Given the description of an element on the screen output the (x, y) to click on. 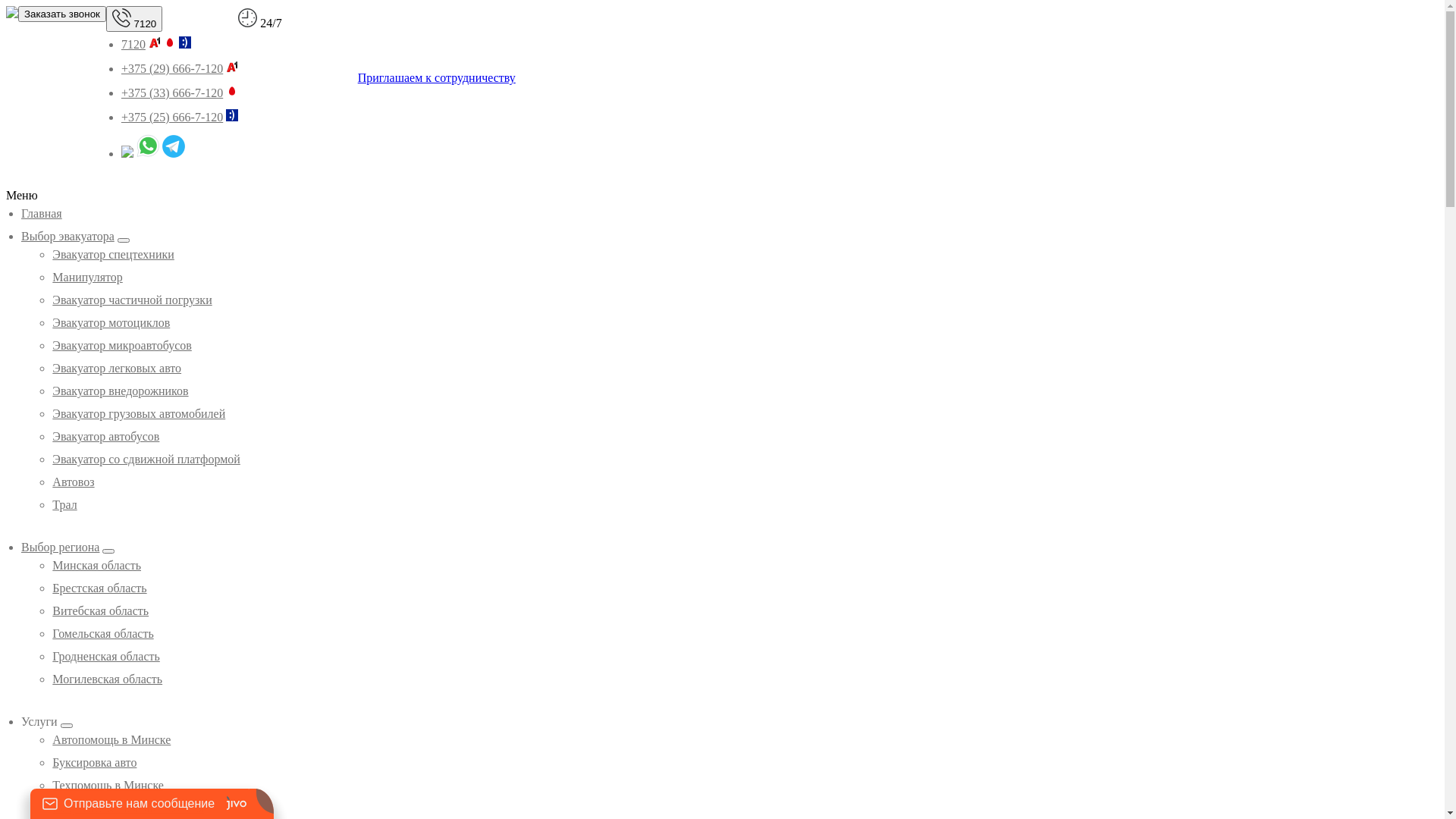
+375 (33) 666-7-120 Element type: text (171, 92)
7120 Element type: text (134, 18)
+375 (25) 666-7-120 Element type: text (171, 116)
7120 Element type: text (133, 43)
+375 (29) 666-7-120 Element type: text (171, 68)
